Given the description of an element on the screen output the (x, y) to click on. 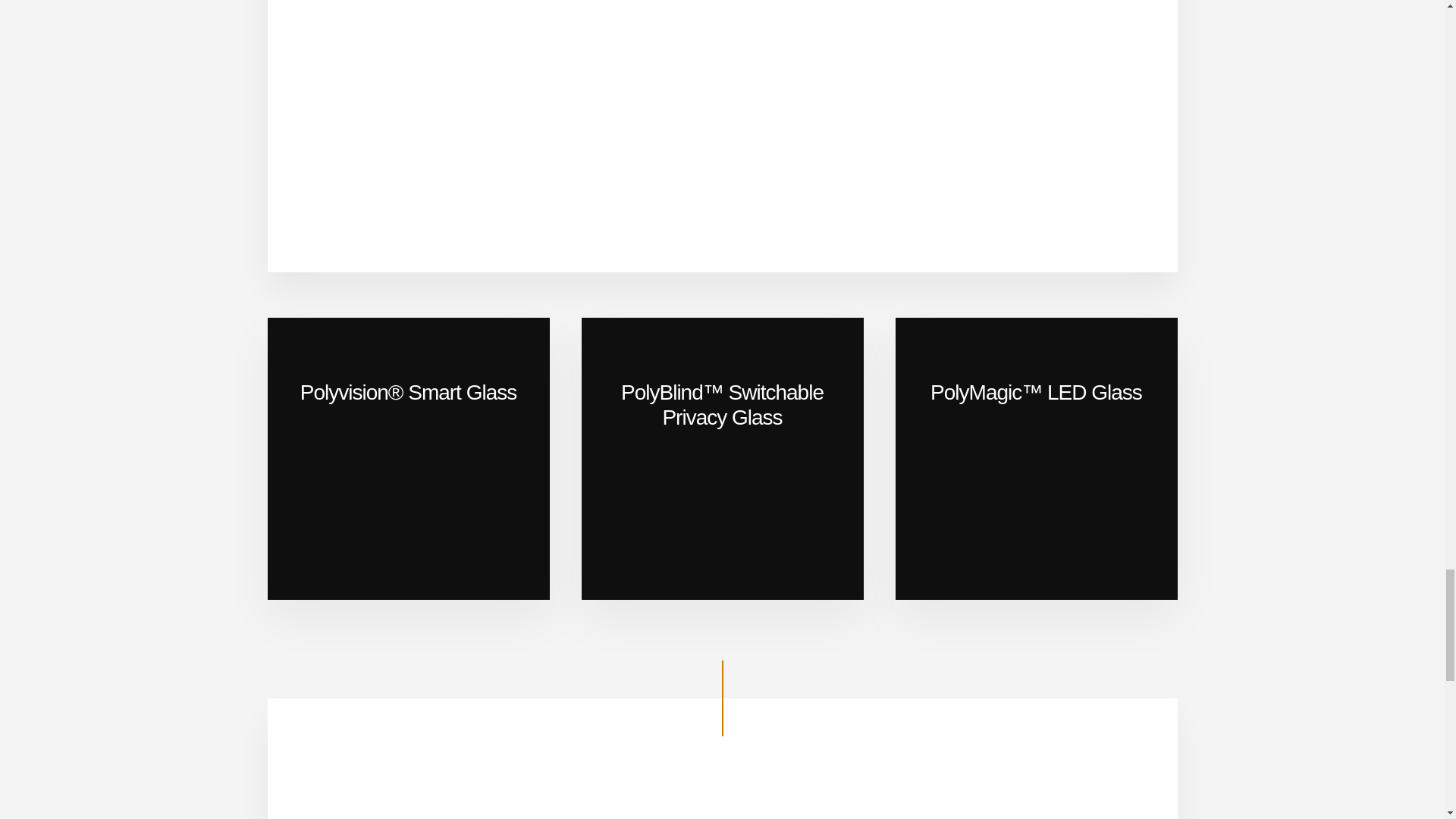
Polytronix Glass Smart Glass (721, 184)
PolyBlind (721, 458)
